Given the description of an element on the screen output the (x, y) to click on. 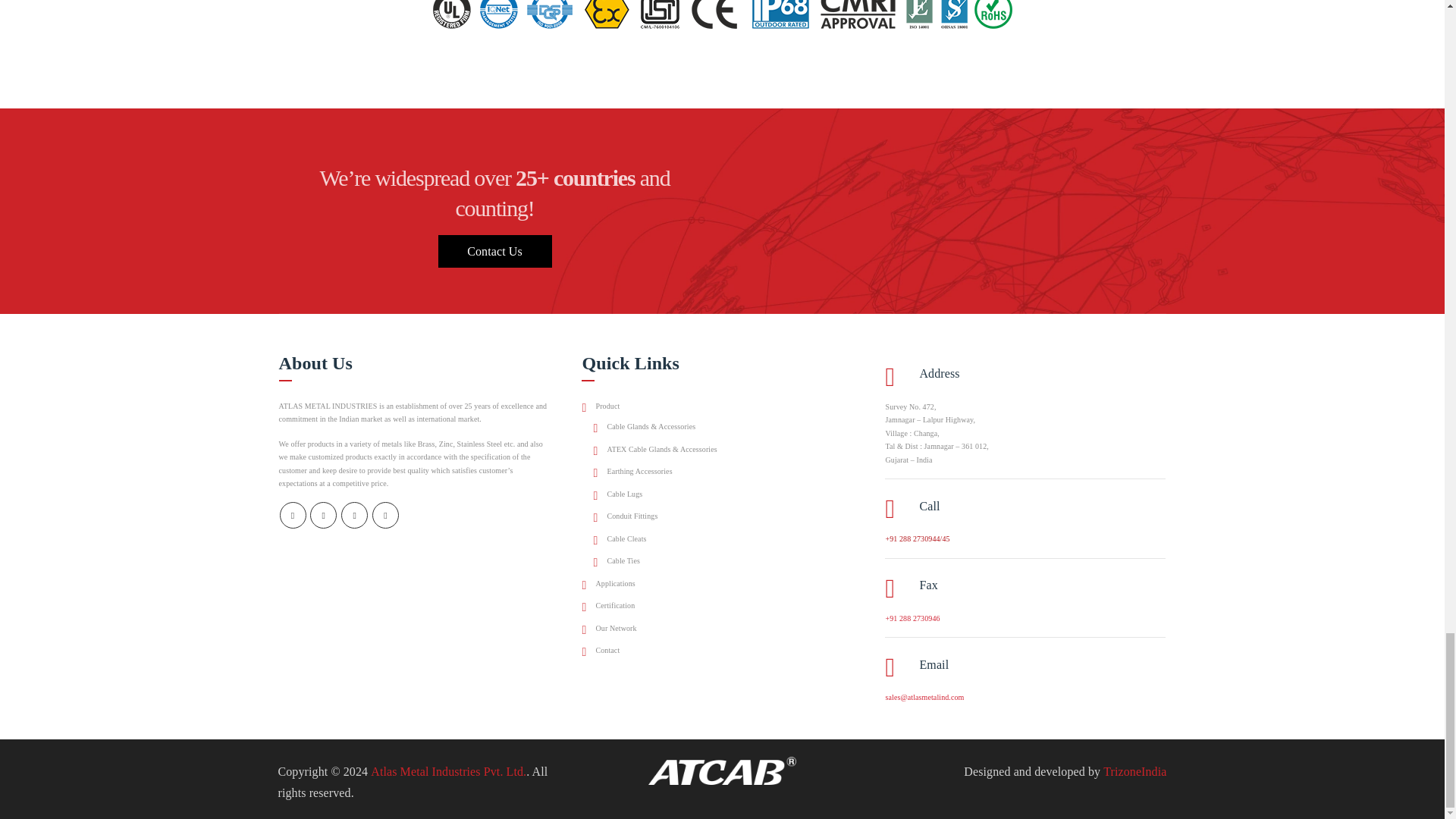
Earthing Accessories (631, 471)
Product (600, 406)
Contact Us (494, 251)
